Given the description of an element on the screen output the (x, y) to click on. 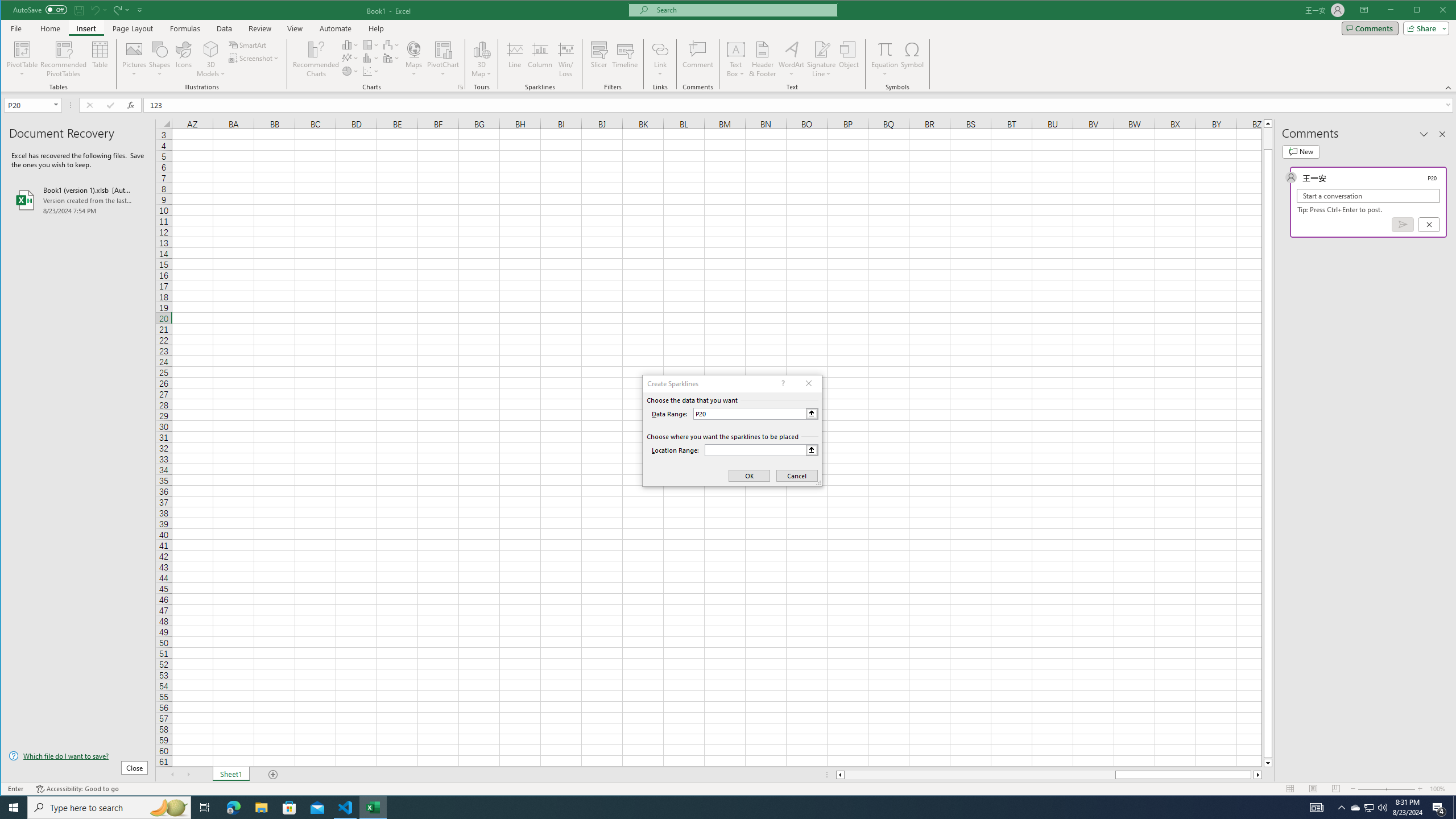
Recommended PivotTables (63, 59)
Link (659, 48)
Insert Combo Chart (391, 57)
Equation (884, 48)
PivotChart (443, 59)
Insert Waterfall, Funnel, Stock, Surface, or Radar Chart (391, 44)
